Given the description of an element on the screen output the (x, y) to click on. 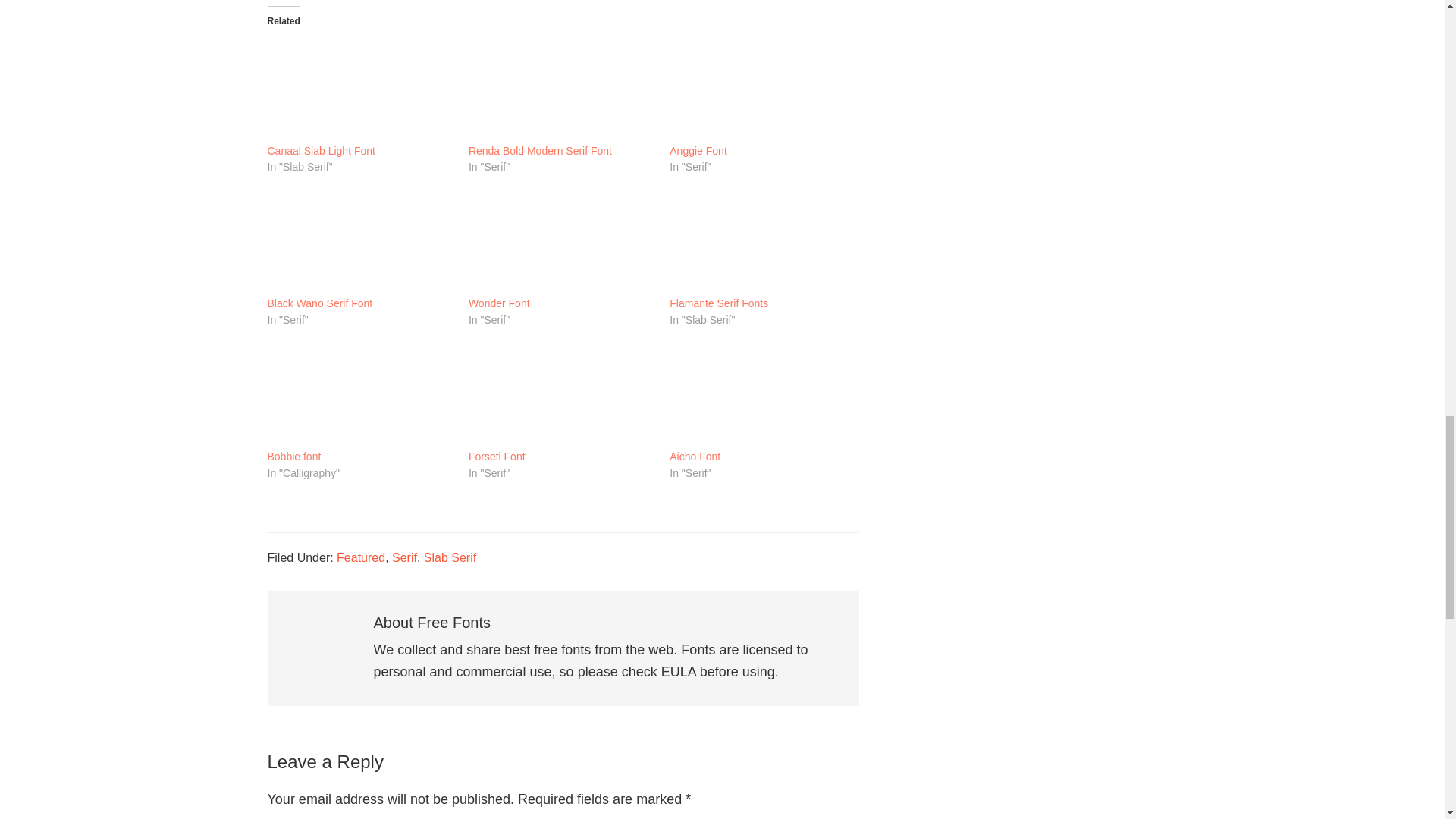
Canaal Slab Light Font (359, 88)
Bobbie font (359, 394)
Featured (360, 557)
Aicho Font (762, 394)
Renda Bold Modern Serif Font (539, 151)
Serif (403, 557)
Flamante Serif Fonts (718, 304)
Wonder Font (560, 241)
Black Wano Serif Font (359, 241)
Slab Serif (449, 557)
Anggie Font (697, 151)
Aicho Font (694, 457)
Canaal Slab Light Font (320, 151)
Forseti Font (496, 457)
Renda Bold Modern Serif Font (560, 88)
